Given the description of an element on the screen output the (x, y) to click on. 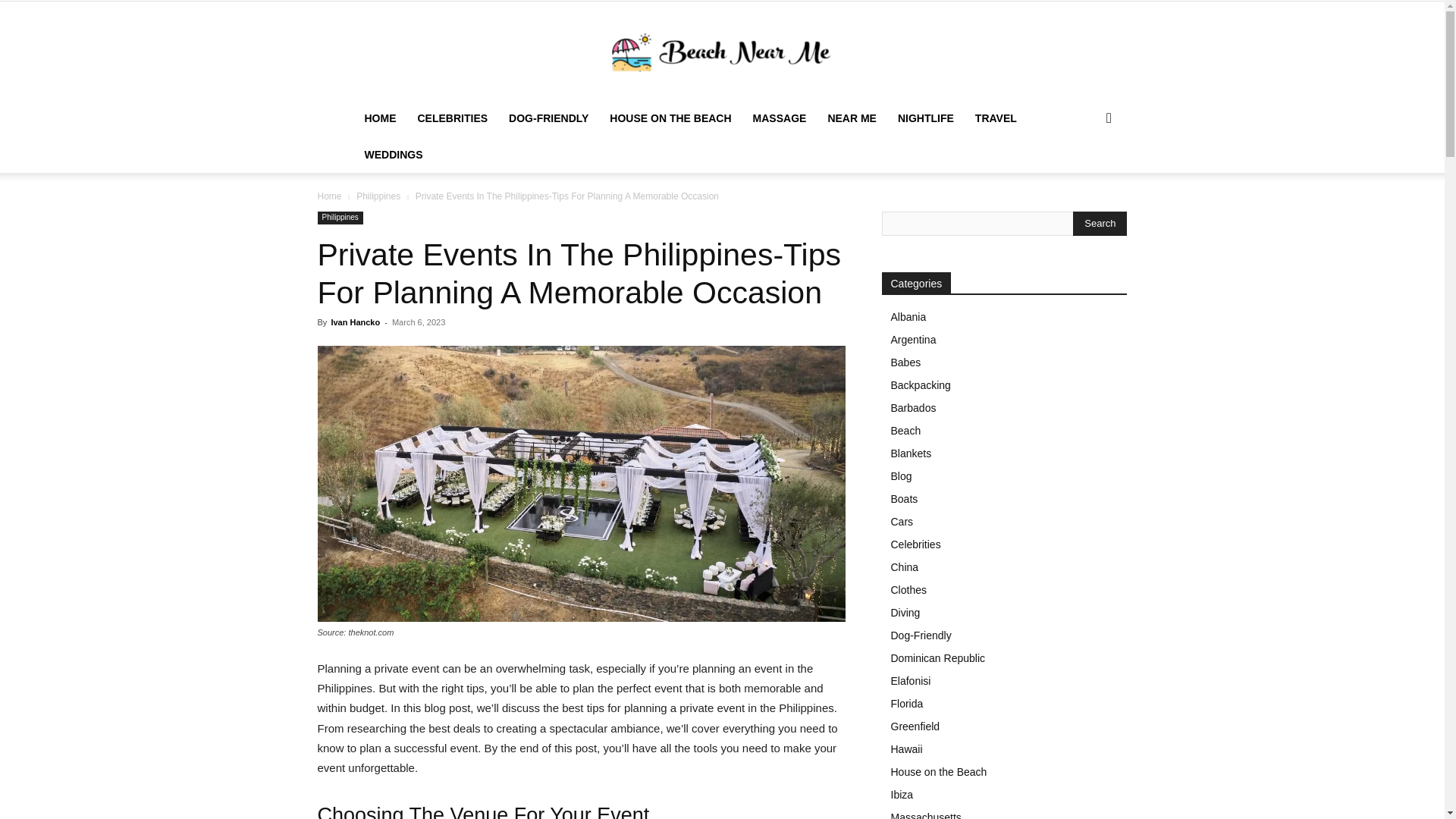
TRAVEL (995, 117)
HOUSE ON THE BEACH (669, 117)
HOME (379, 117)
NEAR ME (851, 117)
Philippines (378, 195)
Ivan Hancko (355, 321)
NIGHTLIFE (924, 117)
Search (1085, 178)
CELEBRITIES (451, 117)
MASSAGE (779, 117)
Home (328, 195)
Philippines (339, 217)
WEDDINGS (392, 154)
View all posts in Philippines (378, 195)
